Given the description of an element on the screen output the (x, y) to click on. 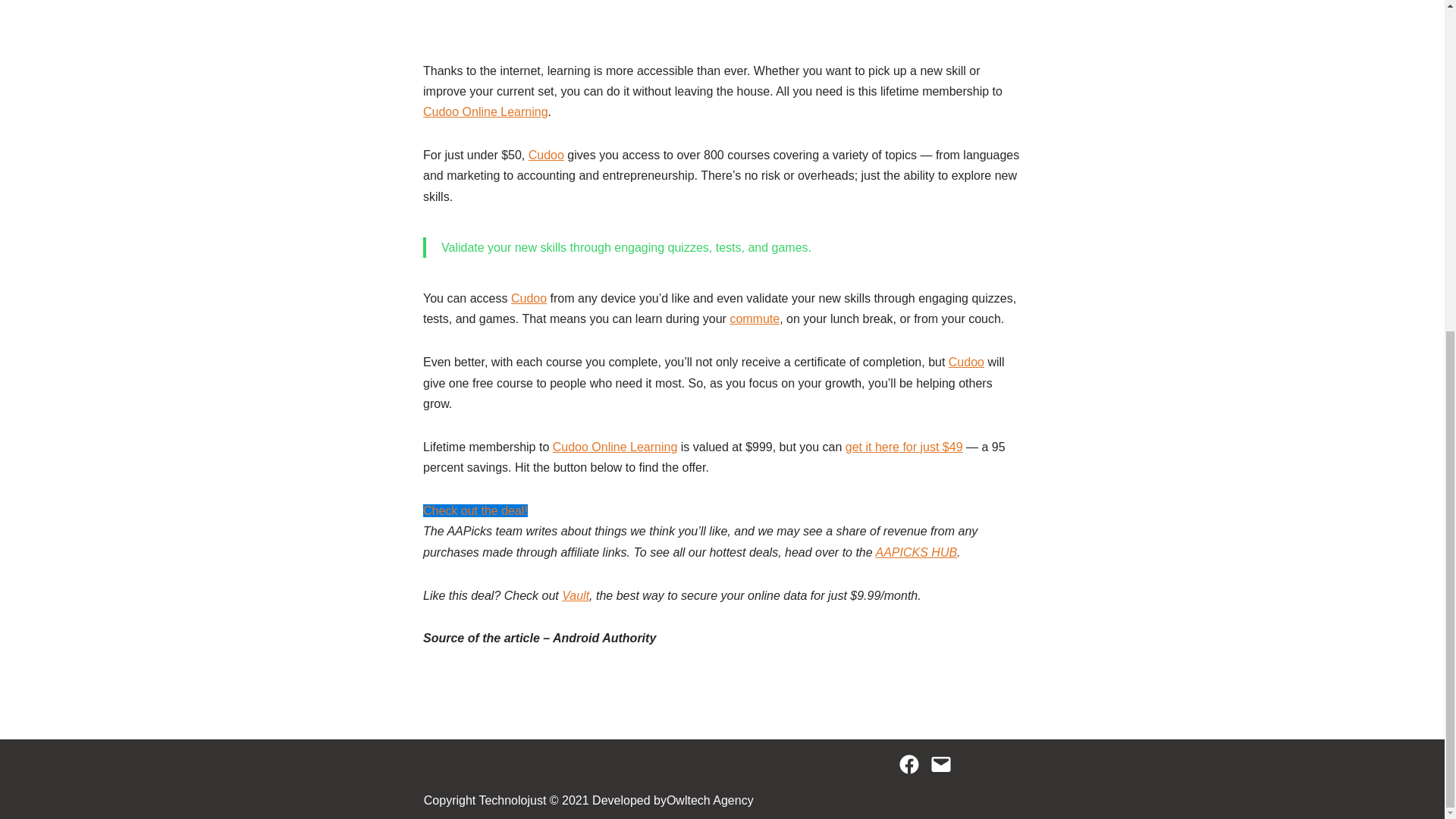
commute (753, 318)
Cudoo Online Learning (615, 446)
Vault (575, 594)
Cudoo (529, 297)
Owltech Agency (710, 800)
Cudoo (546, 154)
Owltech Agency (710, 800)
Cudoo (966, 361)
Check out the deal! (475, 510)
AAPICKS HUB (917, 552)
